Given the description of an element on the screen output the (x, y) to click on. 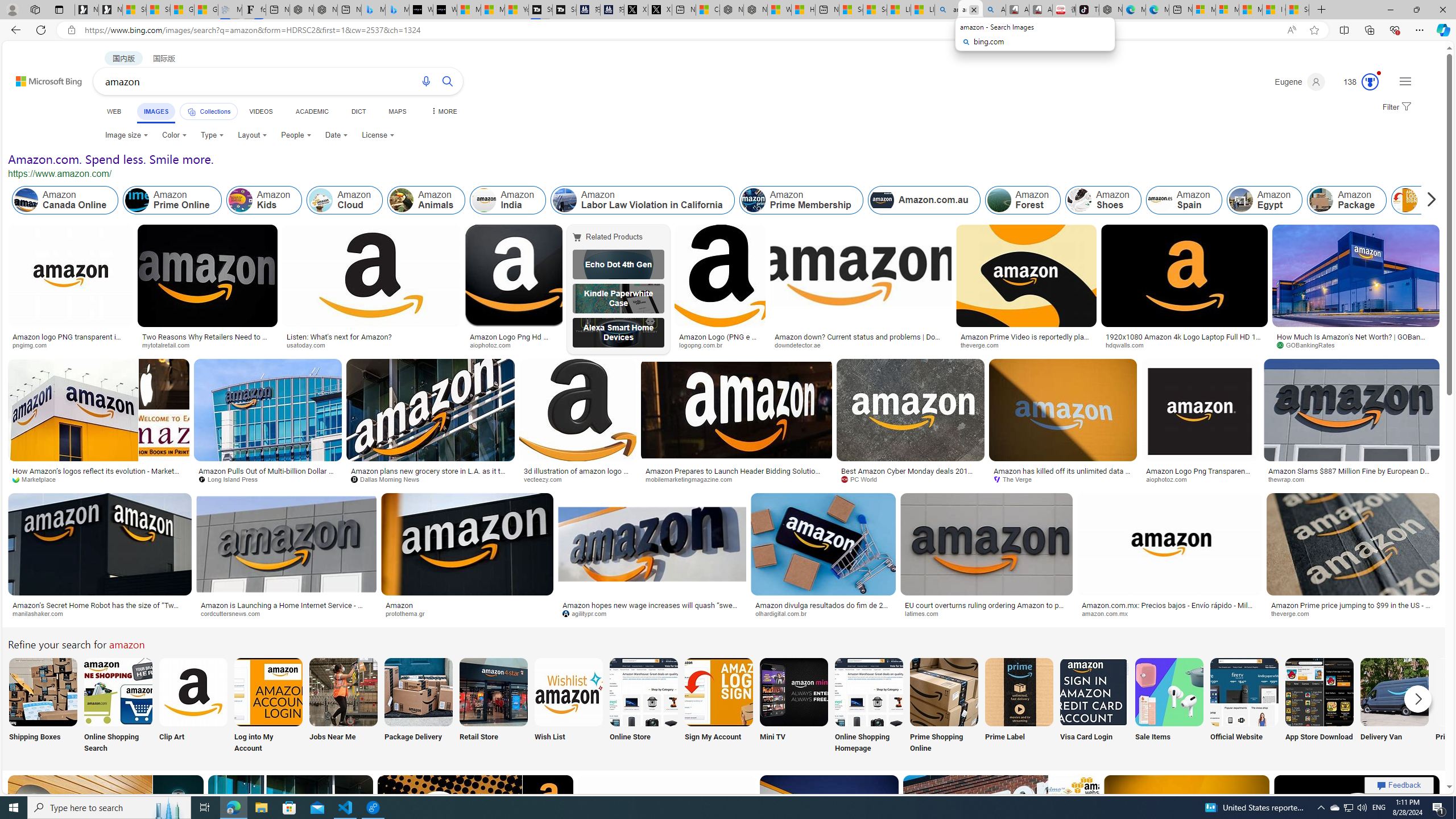
Amazon Log into My Account Log into My Account (268, 706)
vecteezy.com (546, 479)
Date (336, 135)
protothema.gr (466, 613)
Sale Items (1169, 706)
Amazon Prime Membership (801, 199)
